Given the description of an element on the screen output the (x, y) to click on. 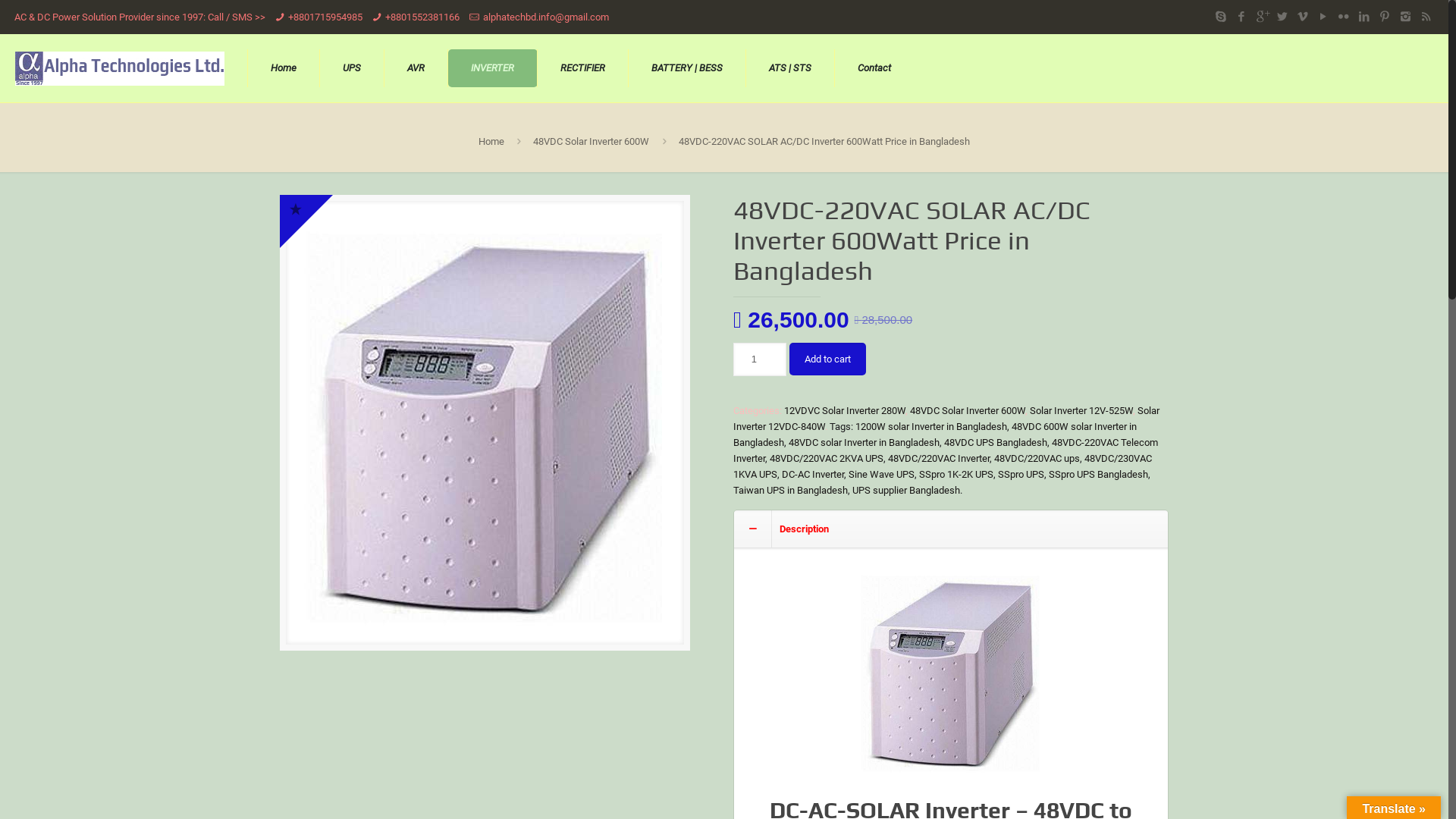
Instagram Element type: hover (1405, 16)
Contact Element type: text (873, 68)
Vimeo Element type: hover (1303, 16)
Taiwan UPS in Bangladesh Element type: text (790, 489)
UPS supplier Bangladesh Element type: text (906, 489)
Flickr Element type: hover (1344, 16)
48VDC/220VAC ups Element type: text (1036, 458)
AVR Element type: text (416, 68)
Alpha Technologies Ltd. Element type: hover (119, 68)
Google+ Element type: hover (1262, 16)
UPS Element type: text (352, 68)
Home Element type: text (283, 68)
DC-AC Inverter Element type: text (812, 474)
+8801715954985 Element type: text (325, 16)
YouTube Element type: hover (1323, 16)
48VDC UPS Bangladesh Element type: text (995, 442)
Sine Wave UPS Element type: text (881, 474)
Solar Inverter 12V-525W Element type: text (1080, 410)
Solar Inverter 12VDC-840W Element type: text (946, 418)
48VDC-220VAC Telecom Inverter Element type: text (945, 450)
+8801552381166 Element type: text (422, 16)
Add to cart Element type: text (827, 358)
Skype Element type: hover (1221, 16)
RSS Element type: hover (1426, 16)
48VDC Solar Inverter 600W Element type: text (591, 141)
SSpro UPS Bangladesh Element type: text (1098, 474)
48VDC/220VAC Inverter Element type: text (938, 458)
INVERTER Element type: text (492, 68)
48VDC/230VAC 1KVA UPS Element type: text (942, 466)
Pinterest Element type: hover (1385, 16)
Home Element type: text (491, 141)
LinkedIn Element type: hover (1364, 16)
48VDC/220VAC 2KVA UPS Element type: text (826, 458)
Facebook Element type: hover (1241, 16)
48VDC 600W solar Inverter in Bangladesh Element type: text (934, 434)
SSpro 1K-2K UPS Element type: text (956, 474)
ATS | STS Element type: text (790, 68)
48VDC Solar Inverter 600W Element type: text (967, 410)
RECTIFIER Element type: text (582, 68)
1200W solar Inverter in Bangladesh Element type: text (931, 426)
SSpro-1k-2k-3k UPS logo Element type: hover (484, 427)
alphatechbd.info@gmail.com Element type: text (545, 16)
SSpro UPS Element type: text (1020, 474)
48VDC solar Inverter in Bangladesh Element type: text (863, 442)
Twitter Element type: hover (1282, 16)
BATTERY | BESS Element type: text (687, 68)
12VDVC Solar Inverter 280W Element type: text (844, 410)
